Given the description of an element on the screen output the (x, y) to click on. 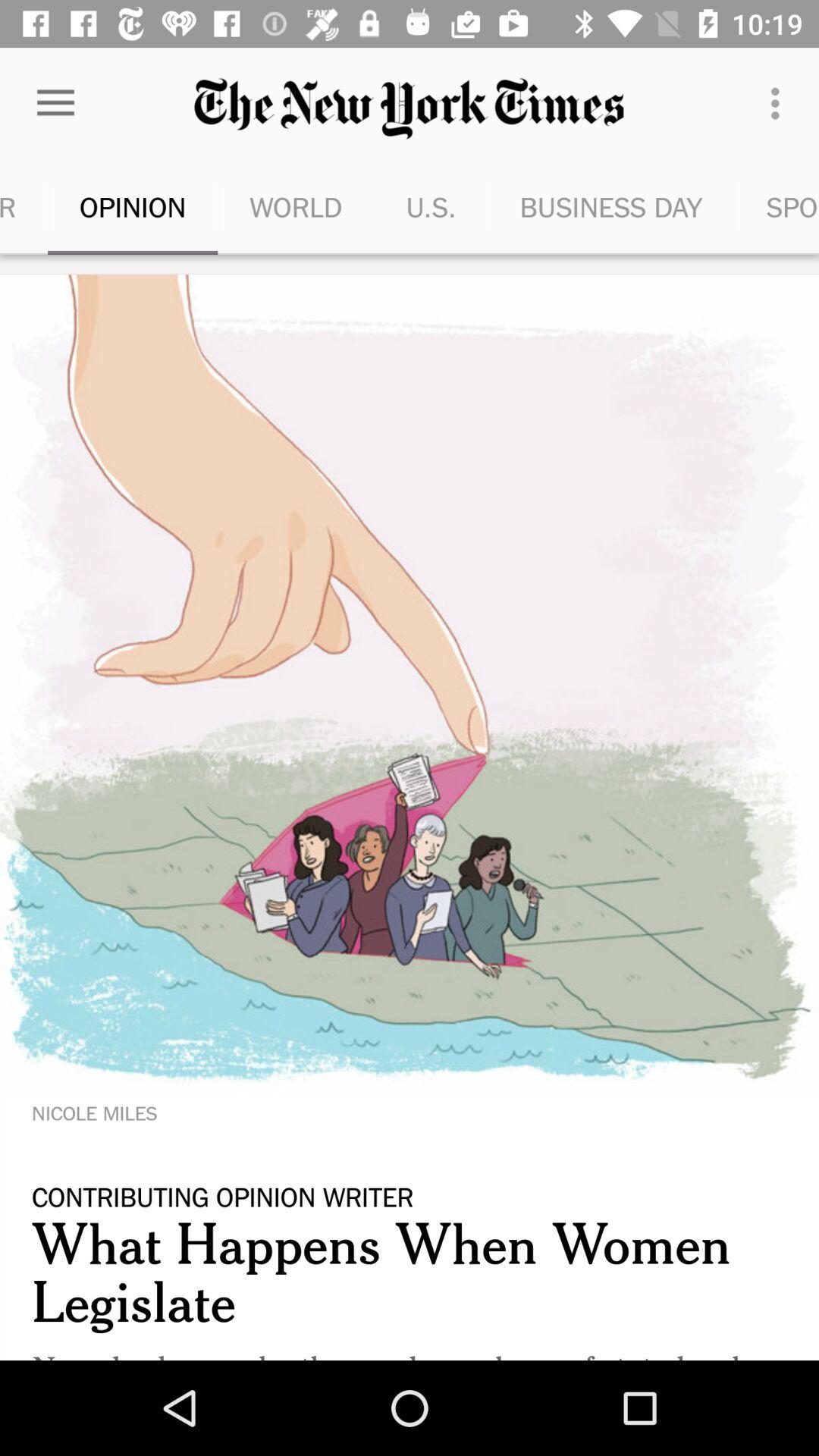
open item to the right of business day icon (776, 206)
